Given the description of an element on the screen output the (x, y) to click on. 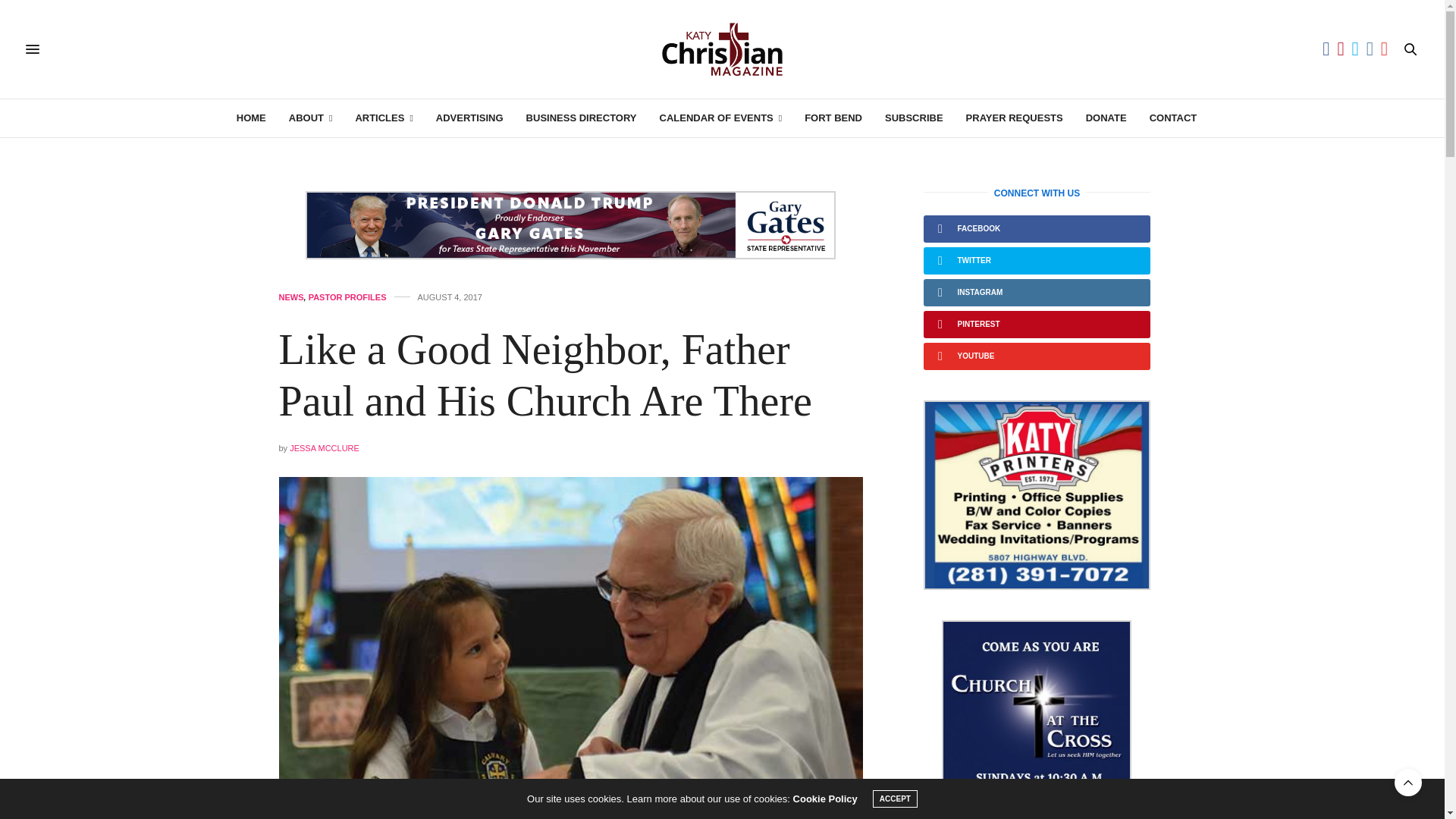
Like a Good Neighbor, Father Paul and His Church Are There (545, 374)
ARTICLES (383, 118)
ABOUT (310, 118)
Scroll To Top (1408, 782)
Posts by Jessa McClure (324, 447)
Katy Christian Magazine (722, 49)
